Given the description of an element on the screen output the (x, y) to click on. 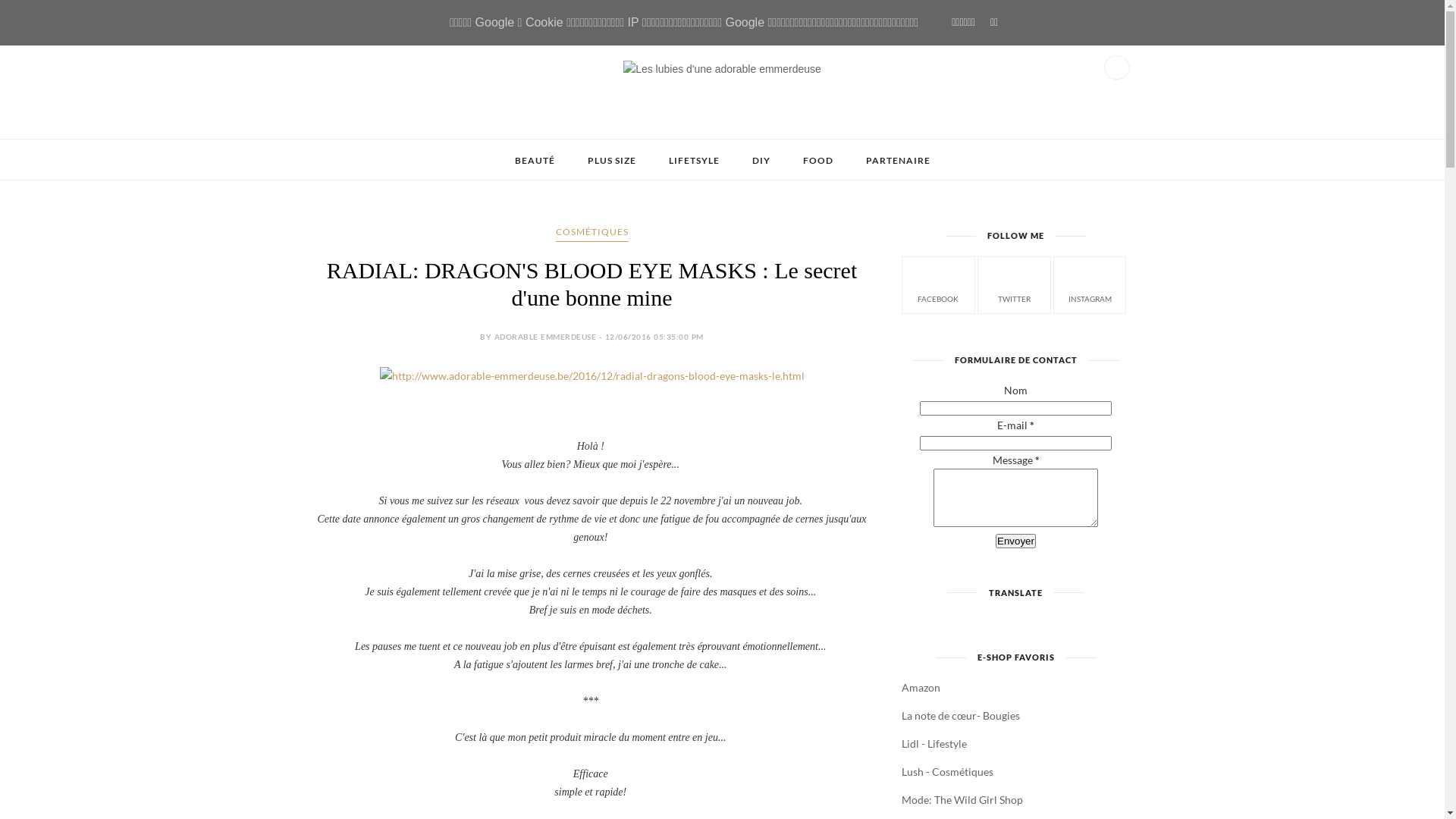
LIFETSYLE Element type: text (693, 160)
PLUS SIZE Element type: text (610, 160)
FACEBOOK Element type: text (938, 283)
DIY Element type: text (761, 160)
INSTAGRAM Element type: text (1090, 283)
Amazon Element type: text (920, 686)
TWITTER Element type: text (1014, 283)
FOOD Element type: text (817, 160)
Mode: The Wild Girl Shop Element type: text (961, 799)
PARTENAIRE Element type: text (898, 160)
Lidl - Lifestyle Element type: text (933, 743)
